Given the description of an element on the screen output the (x, y) to click on. 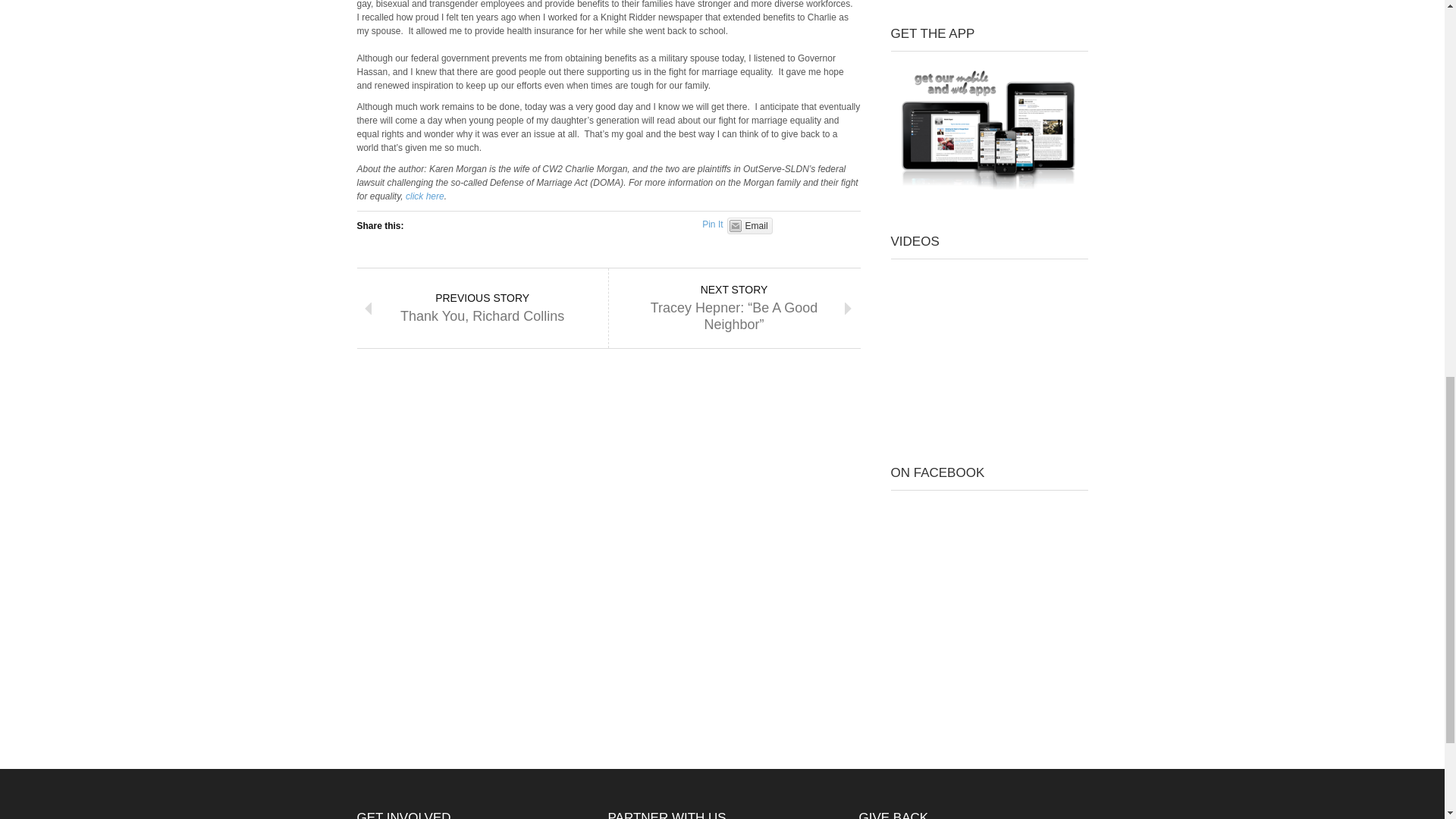
Click to email this to a friend (749, 225)
